Given the description of an element on the screen output the (x, y) to click on. 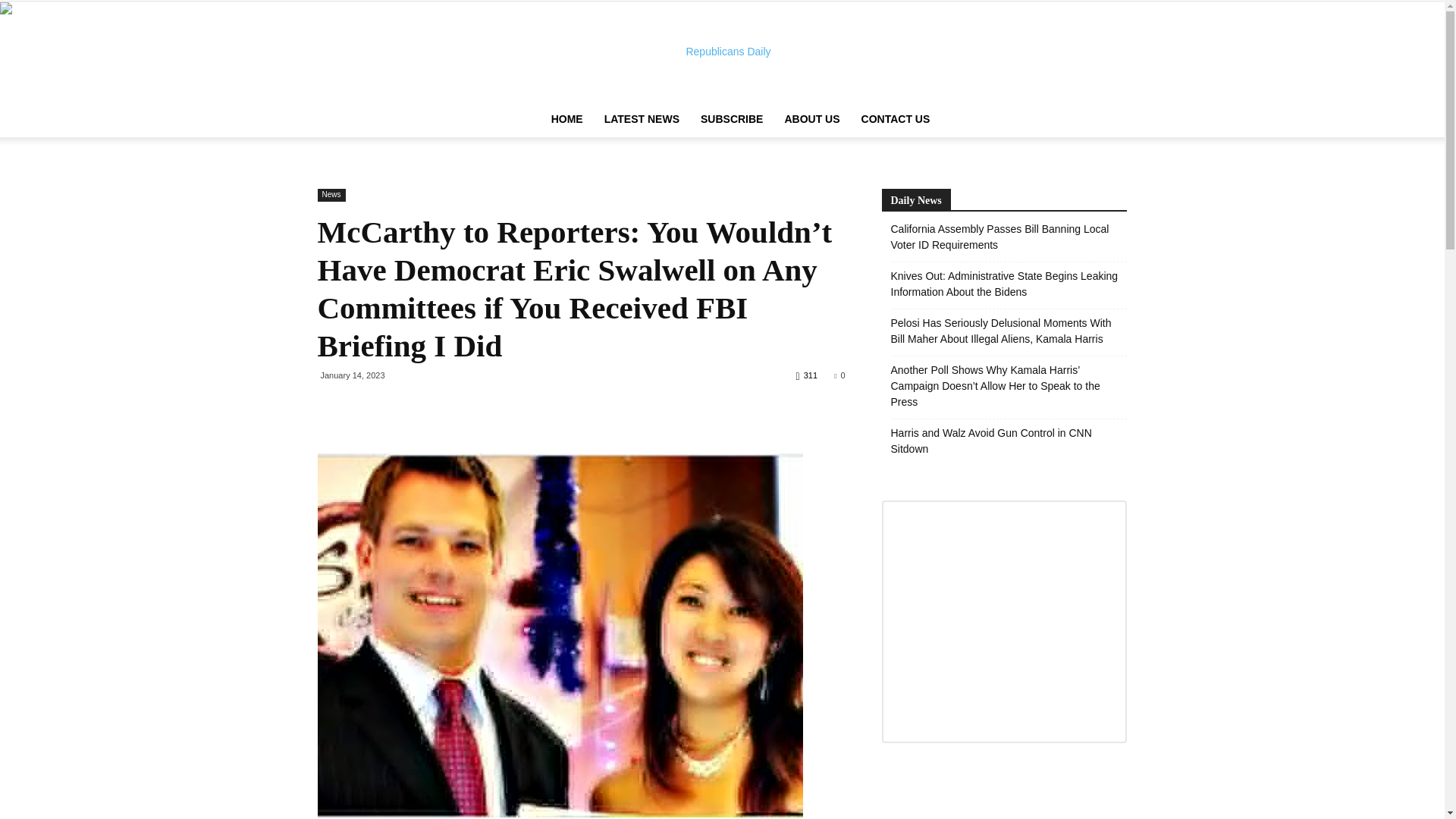
News (331, 195)
ABOUT US (811, 118)
CONTACT US (895, 118)
LATEST NEWS (642, 118)
SUBSCRIBE (731, 118)
0 (839, 375)
HOME (567, 118)
